Given the description of an element on the screen output the (x, y) to click on. 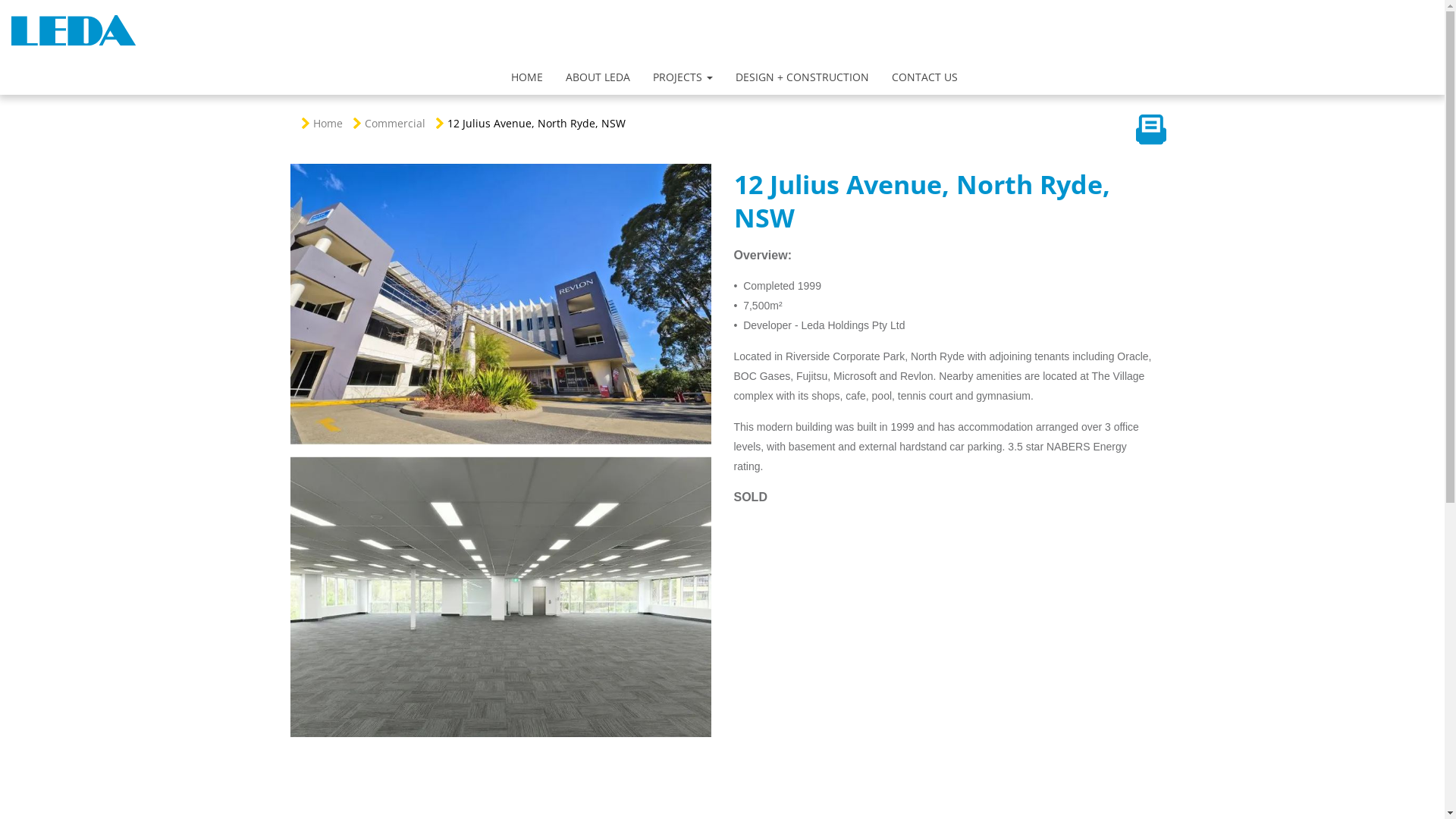
PROJECTS Element type: text (682, 77)
DESIGN + CONSTRUCTION Element type: text (802, 77)
ABOUT LEDA Element type: text (597, 77)
HOME Element type: text (526, 77)
12 Julius Avenue, North Ryde, NSW Element type: text (536, 123)
Home Element type: text (327, 123)
Commercial Element type: text (394, 123)
Leda  Logo Element type: hover (72, 29)
CONTACT US Element type: text (924, 77)
